Given the description of an element on the screen output the (x, y) to click on. 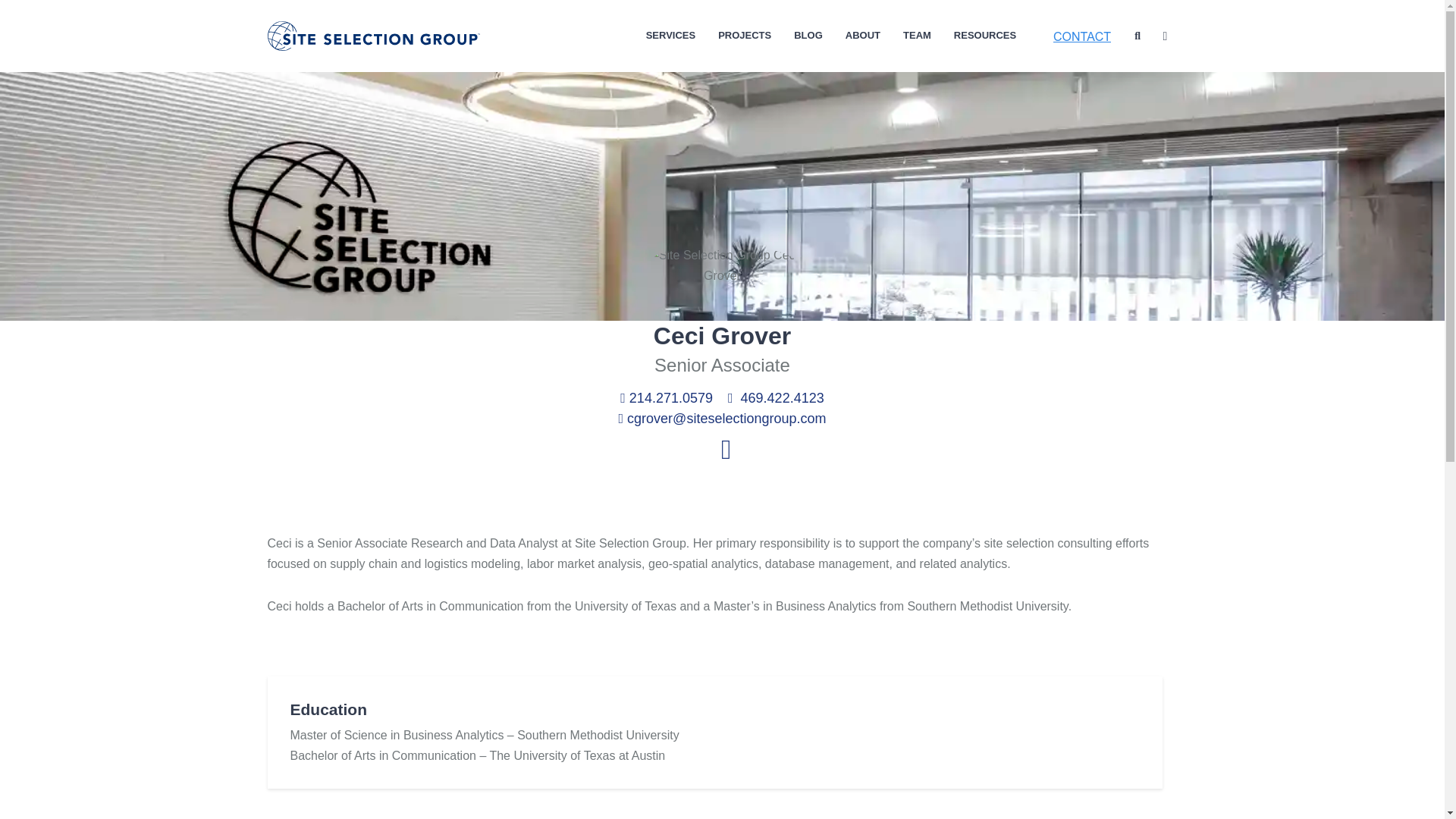
  469.422.4123 (776, 397)
RESOURCES (984, 35)
SERVICES (670, 35)
SSG-Horizontal (373, 35)
PROJECTS (744, 35)
 214.271.0579 (666, 397)
Site Selection Group Ceci Grover (721, 264)
